Given the description of an element on the screen output the (x, y) to click on. 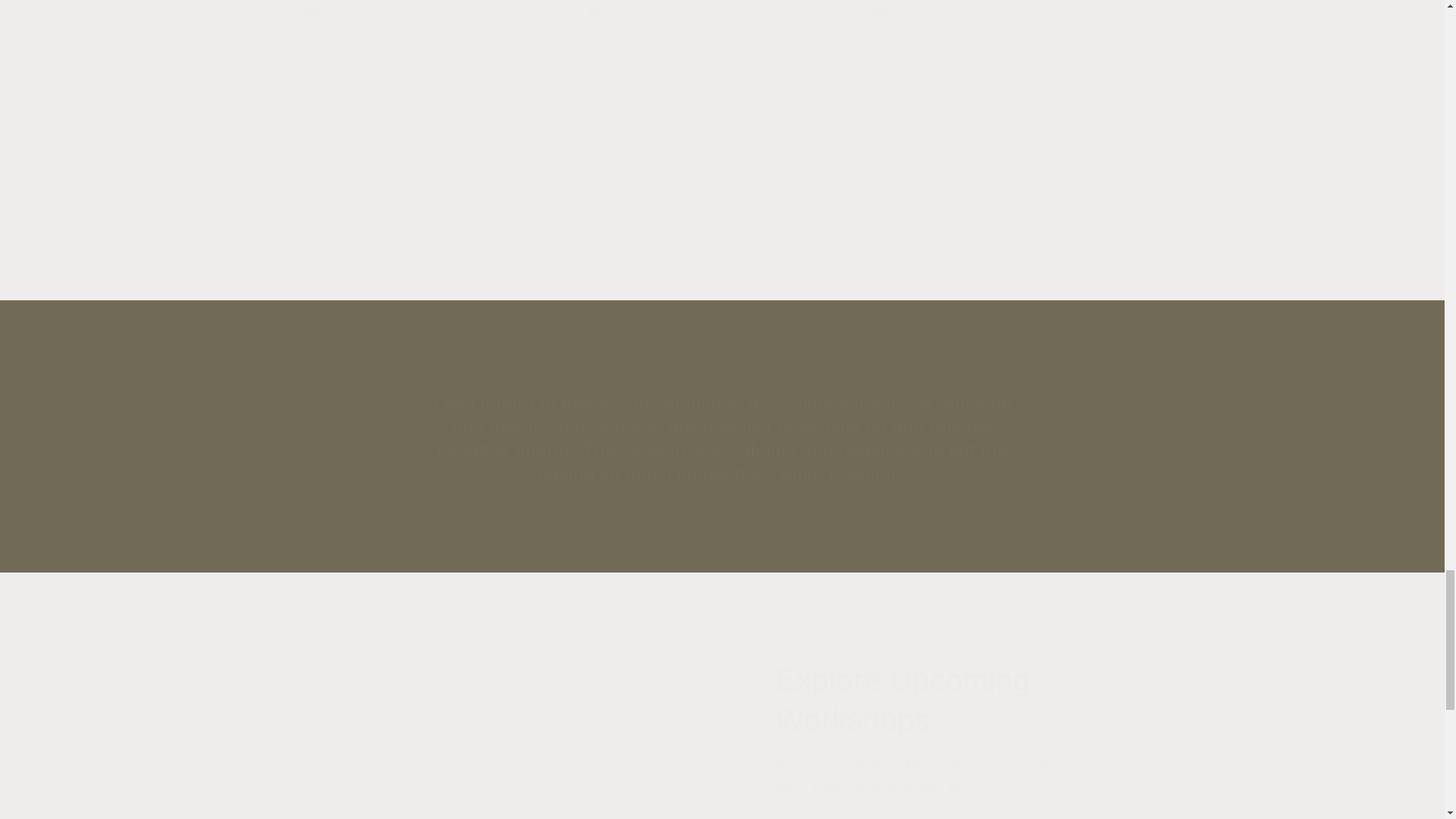
Cleansing (1004, 167)
JULIA (721, 506)
Incense Sticks (722, 167)
